Given the description of an element on the screen output the (x, y) to click on. 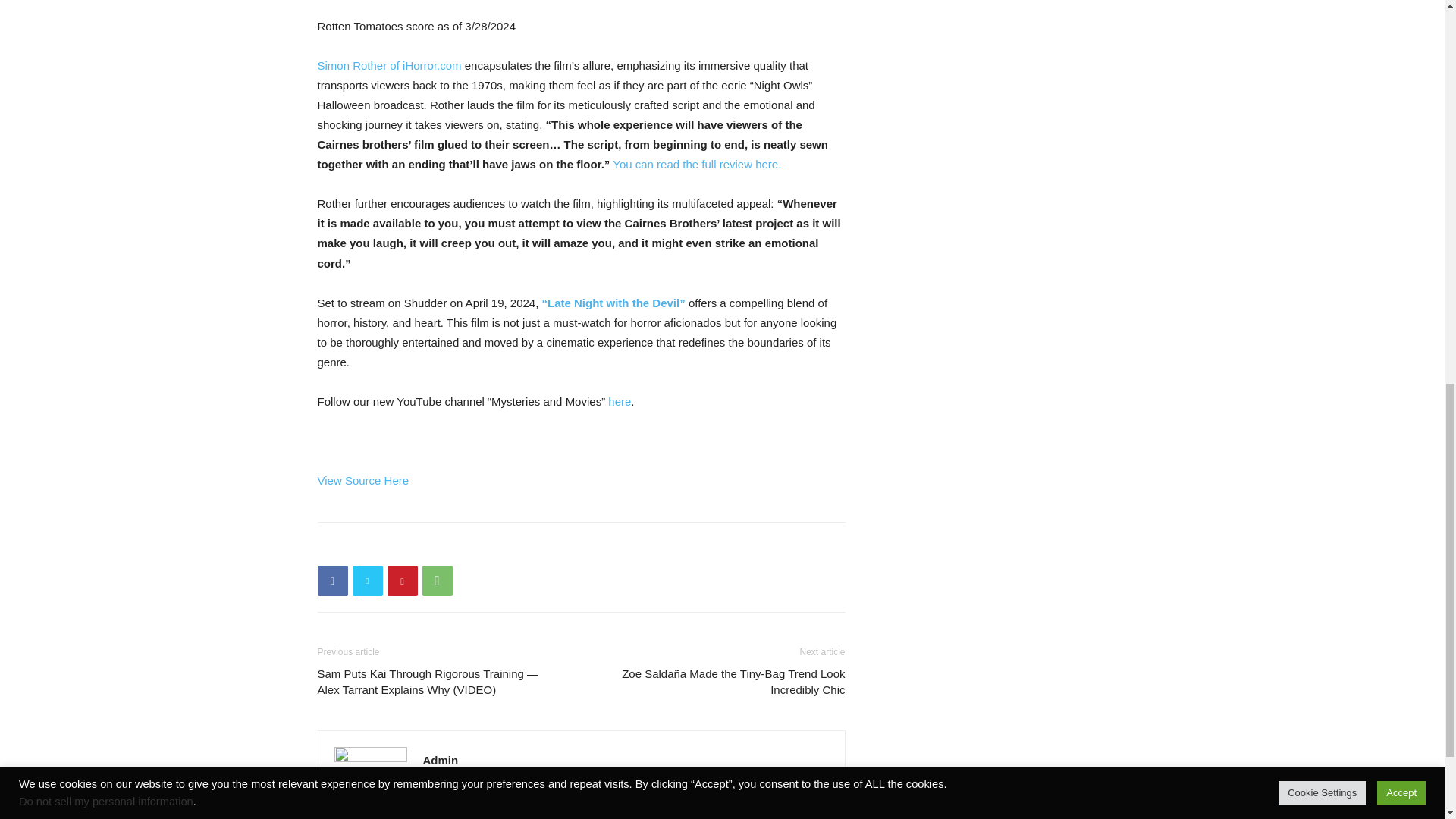
Simon Rother of iHorror.com (390, 65)
